Given the description of an element on the screen output the (x, y) to click on. 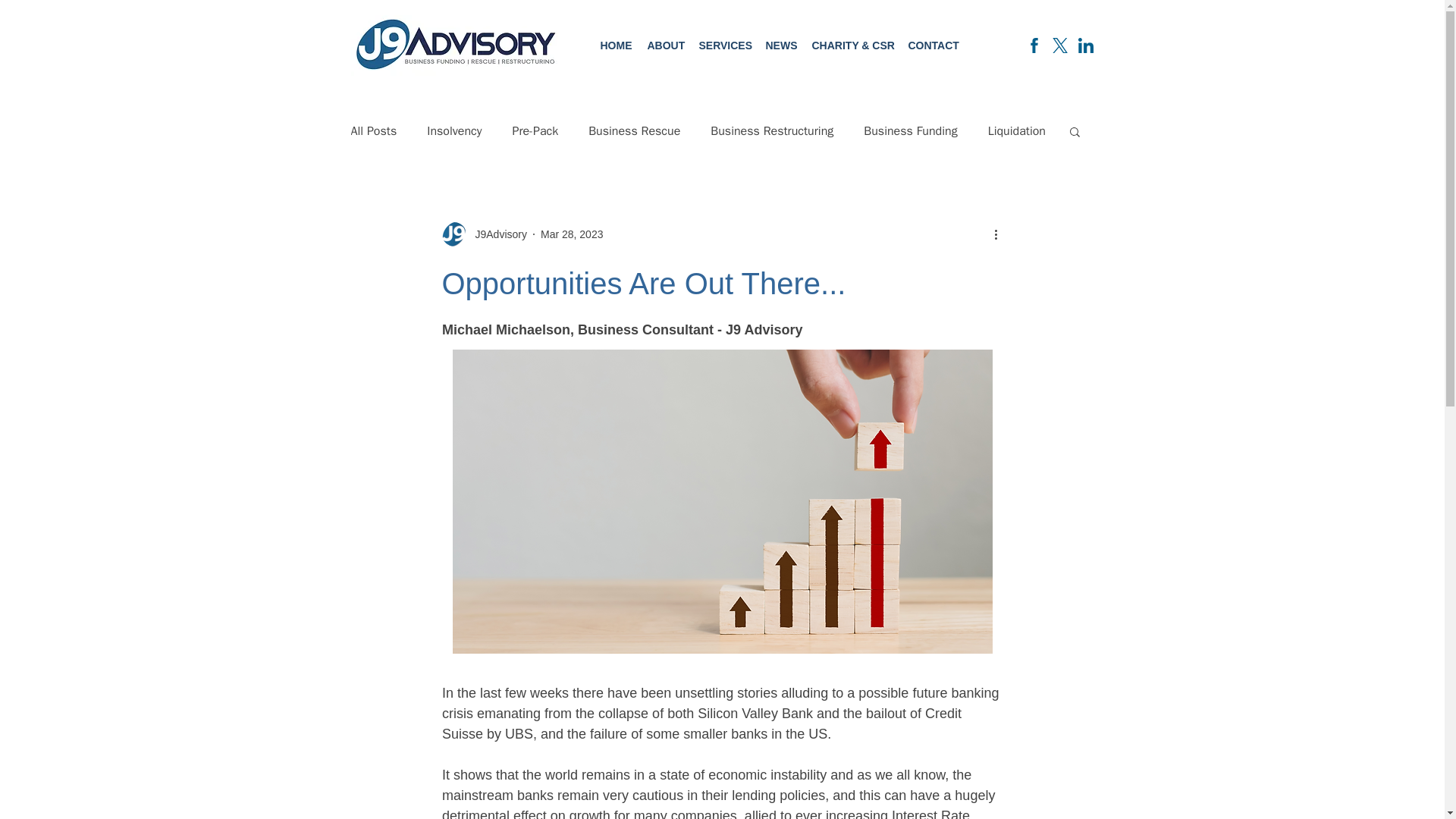
Mar 28, 2023 (572, 233)
Business Rescue (633, 130)
NEWS (781, 45)
Business Funding (909, 130)
Insolvency (453, 130)
Business Restructuring (771, 130)
HOME (616, 45)
Pre-Pack (534, 130)
Liquidation (1016, 130)
J9Advisory (495, 233)
